Given the description of an element on the screen output the (x, y) to click on. 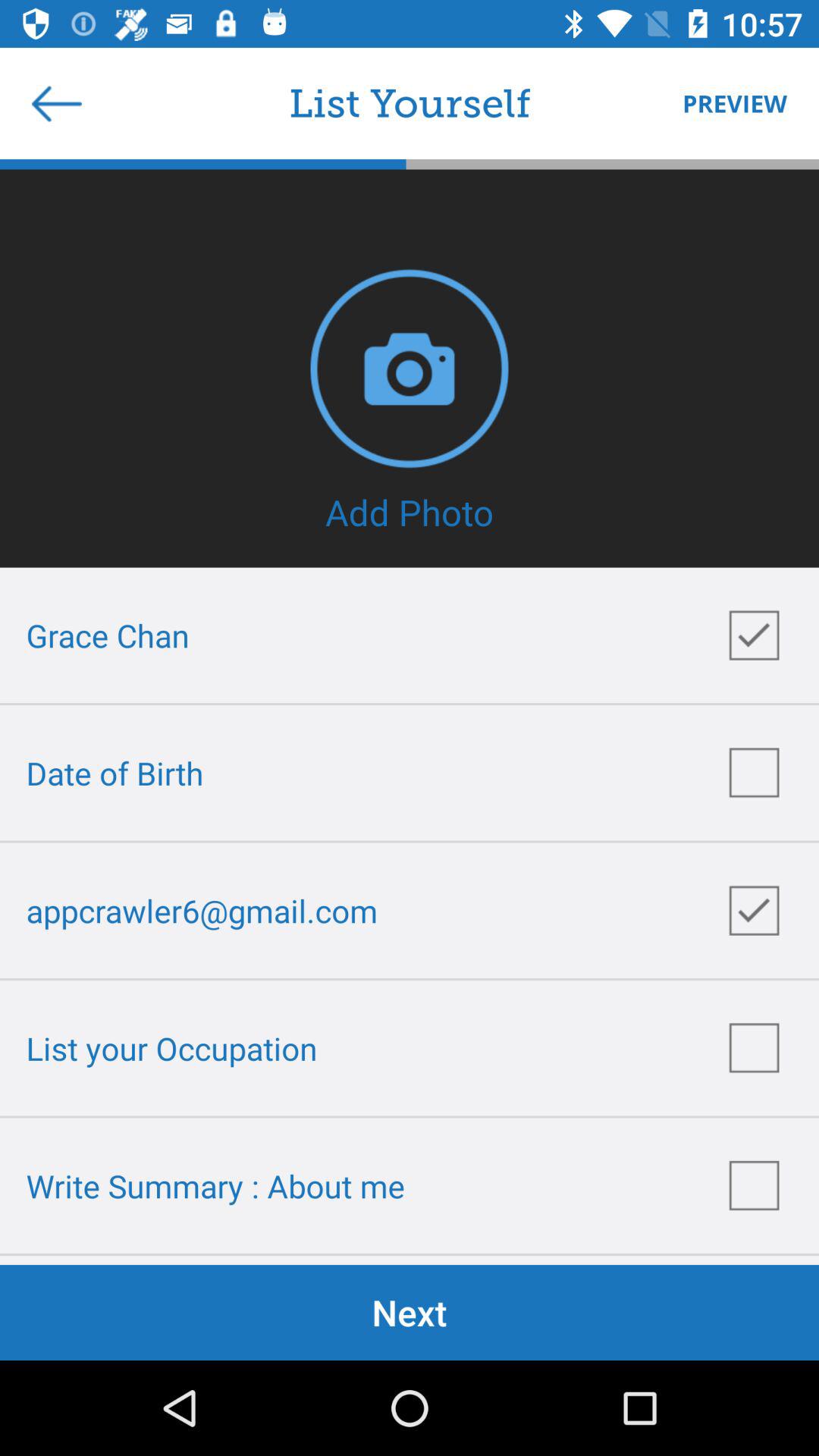
turn on icon to the left of list yourself icon (56, 103)
